Given the description of an element on the screen output the (x, y) to click on. 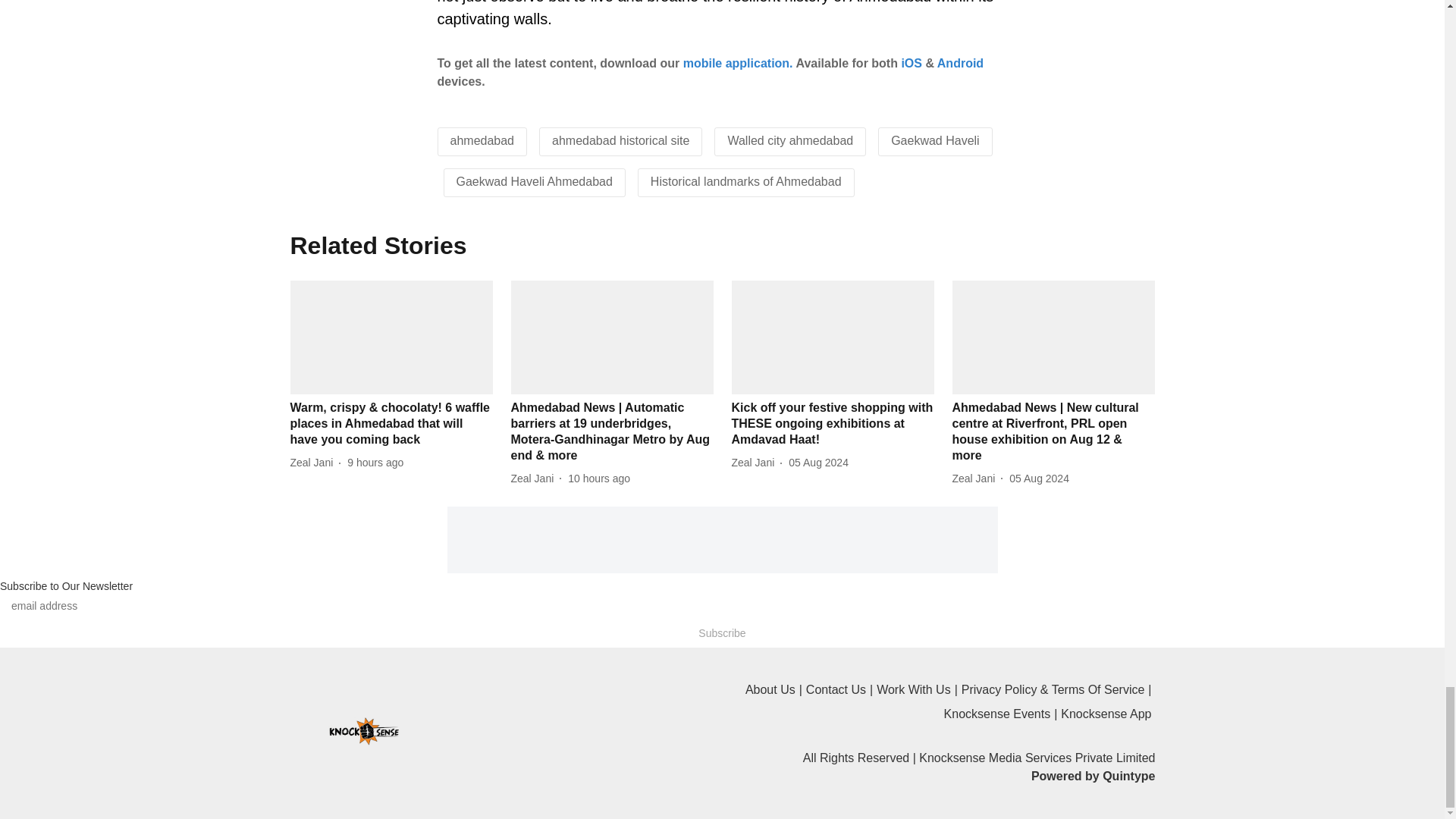
Zeal Jani (314, 462)
iOS (911, 62)
ahmedabad historical site (619, 140)
2024-08-05 12:52 (818, 462)
Historical landmarks of Ahmedabad (745, 181)
2024-08-06 06:44 (598, 478)
Zeal Jani (535, 478)
ahmedabad (482, 140)
Android (960, 62)
2024-08-05 08:51 (1038, 478)
